Given the description of an element on the screen output the (x, y) to click on. 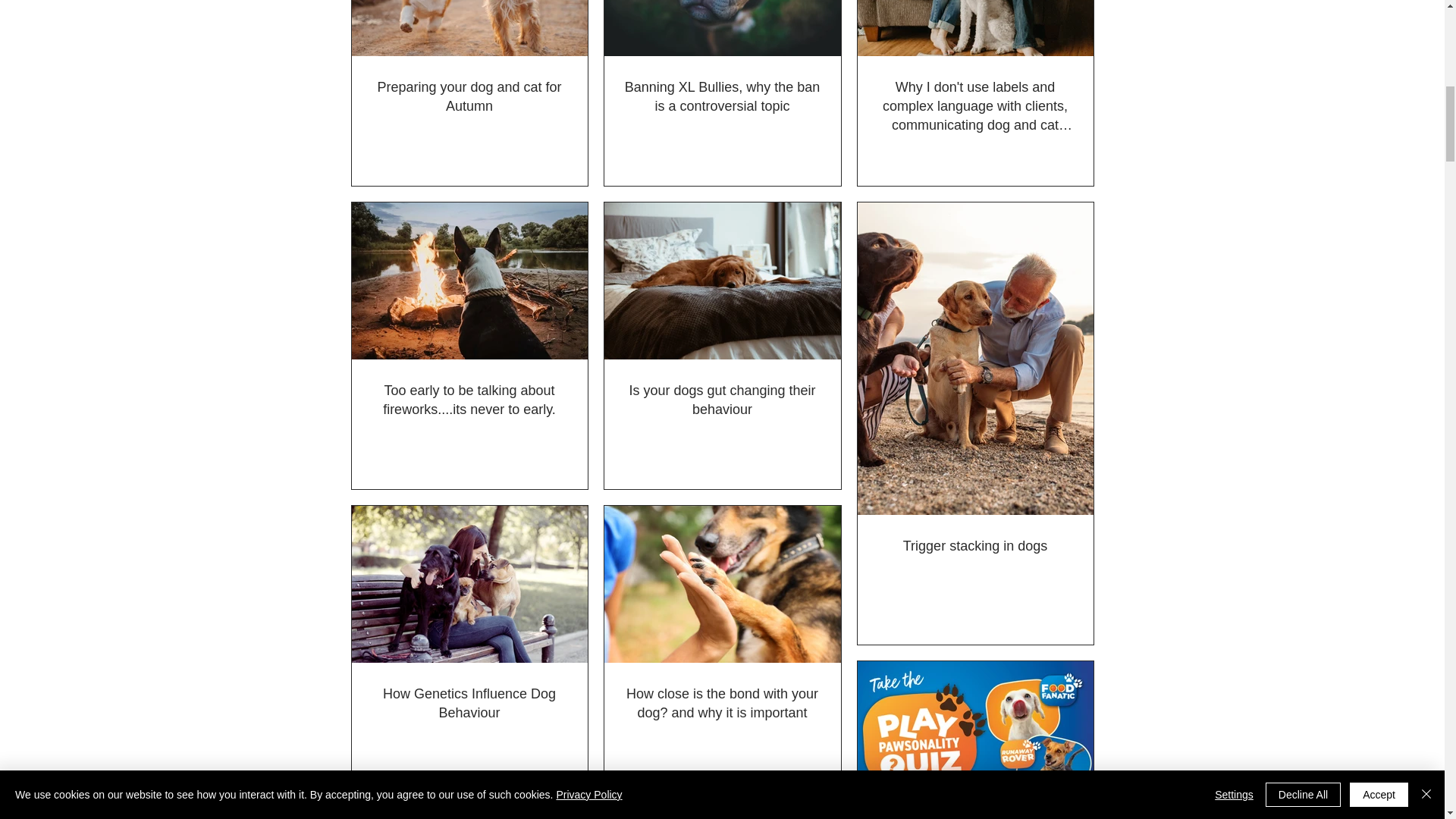
Is your dogs gut changing their behaviour (721, 400)
Trigger stacking in dogs (974, 546)
How Genetics Influence Dog Behaviour (469, 703)
Banning XL Bullies, why the ban is a controversial topic (721, 96)
How close is the bond with your dog? and why it is important (721, 703)
Preparing your dog and cat for Autumn (469, 96)
